Given the description of an element on the screen output the (x, y) to click on. 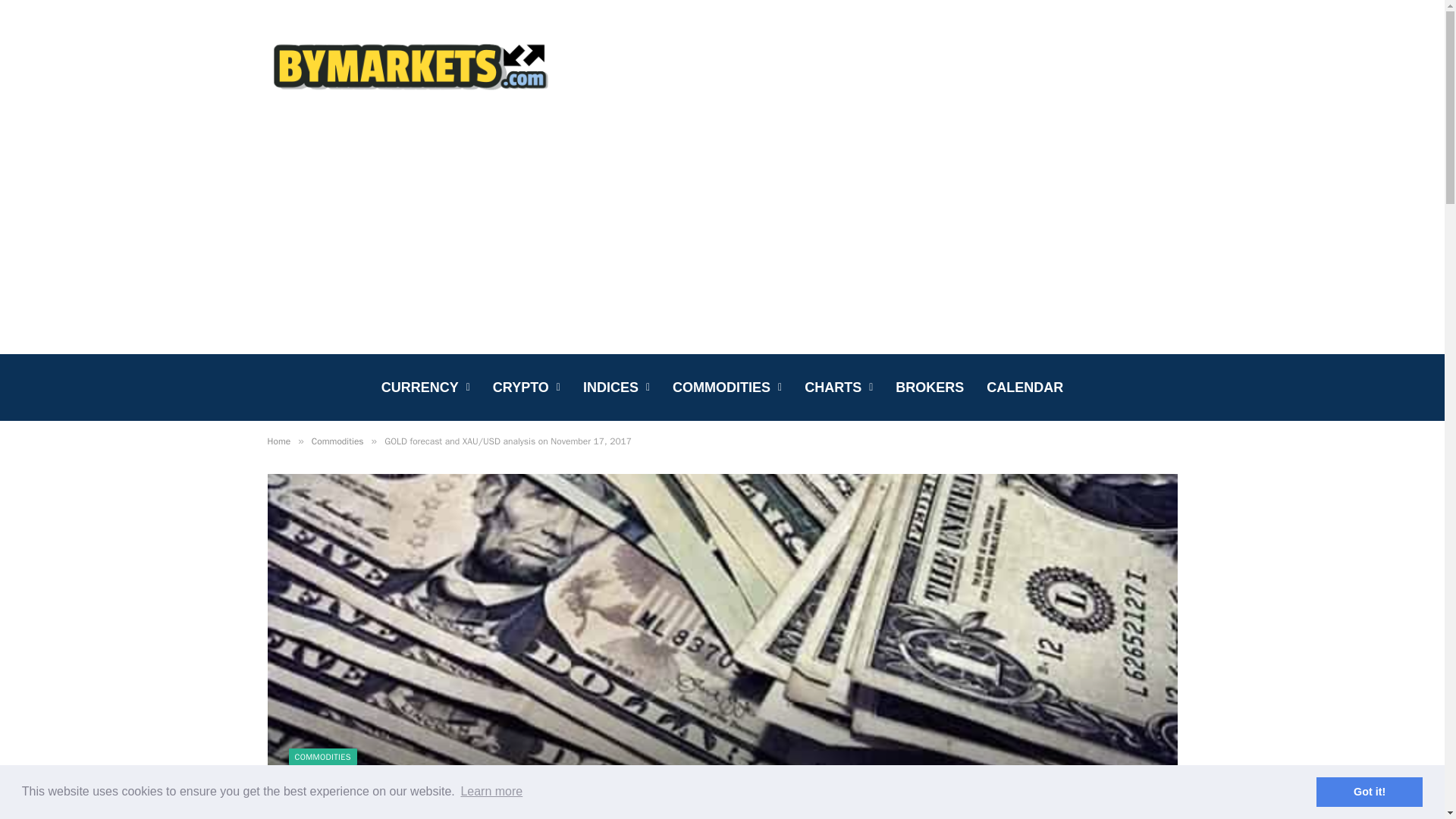
BROKERS (929, 387)
Got it! (1369, 791)
CRYPTO (526, 387)
CALENDAR (1024, 387)
Learn more (491, 791)
CURRENCY (425, 387)
COMMODITIES (727, 387)
CHARTS (838, 387)
INDICES (616, 387)
